Given the description of an element on the screen output the (x, y) to click on. 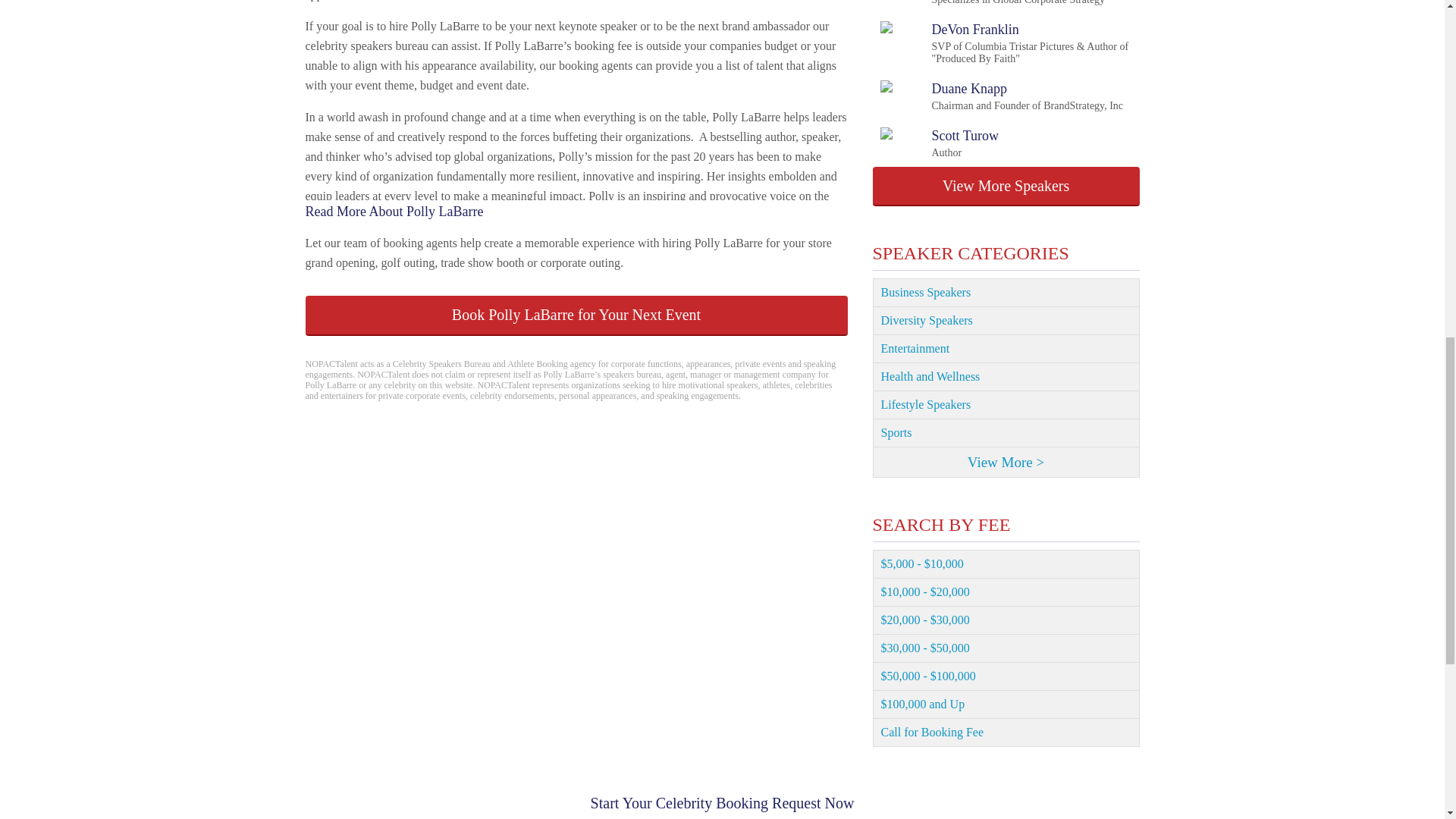
Entertainment (1005, 348)
View More Speakers (1000, 96)
Sports (992, 2)
Lifestyle Speakers (1005, 186)
Diversity Speakers (1005, 433)
Health and Wellness (1005, 405)
Business Speakers (1005, 320)
